Given the description of an element on the screen output the (x, y) to click on. 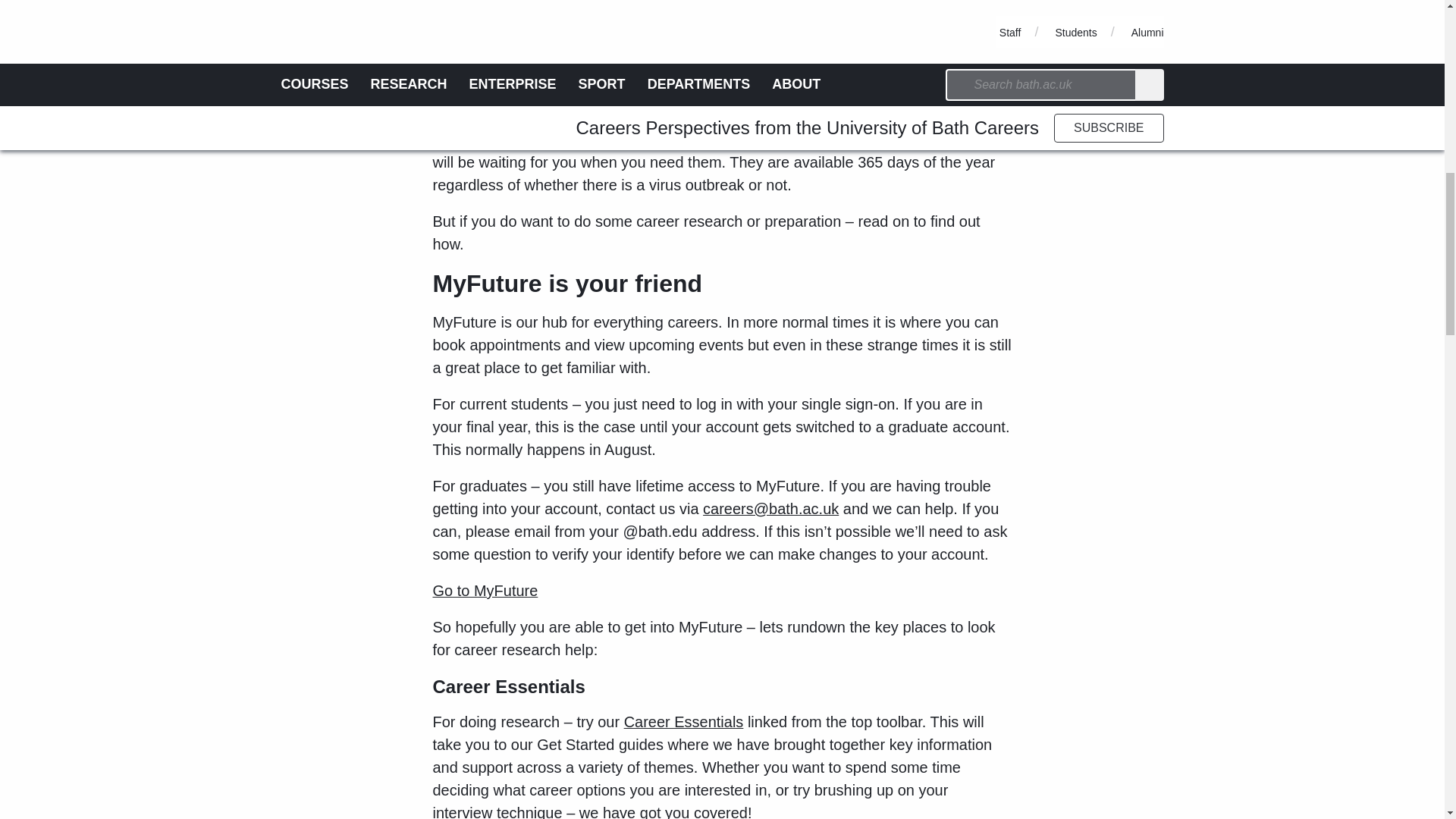
Go to MyFuture (484, 590)
Career Essentials (684, 721)
